Given the description of an element on the screen output the (x, y) to click on. 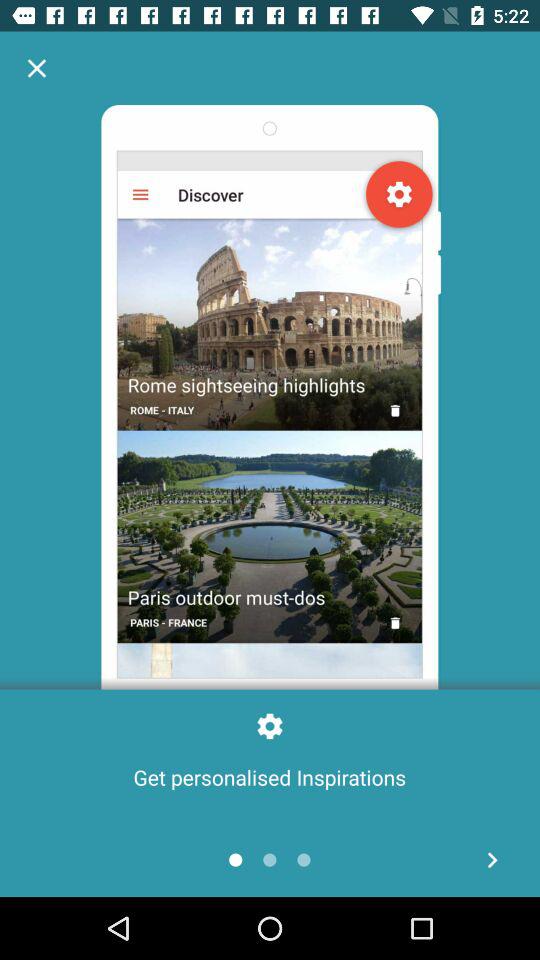
exit the page (36, 68)
